Given the description of an element on the screen output the (x, y) to click on. 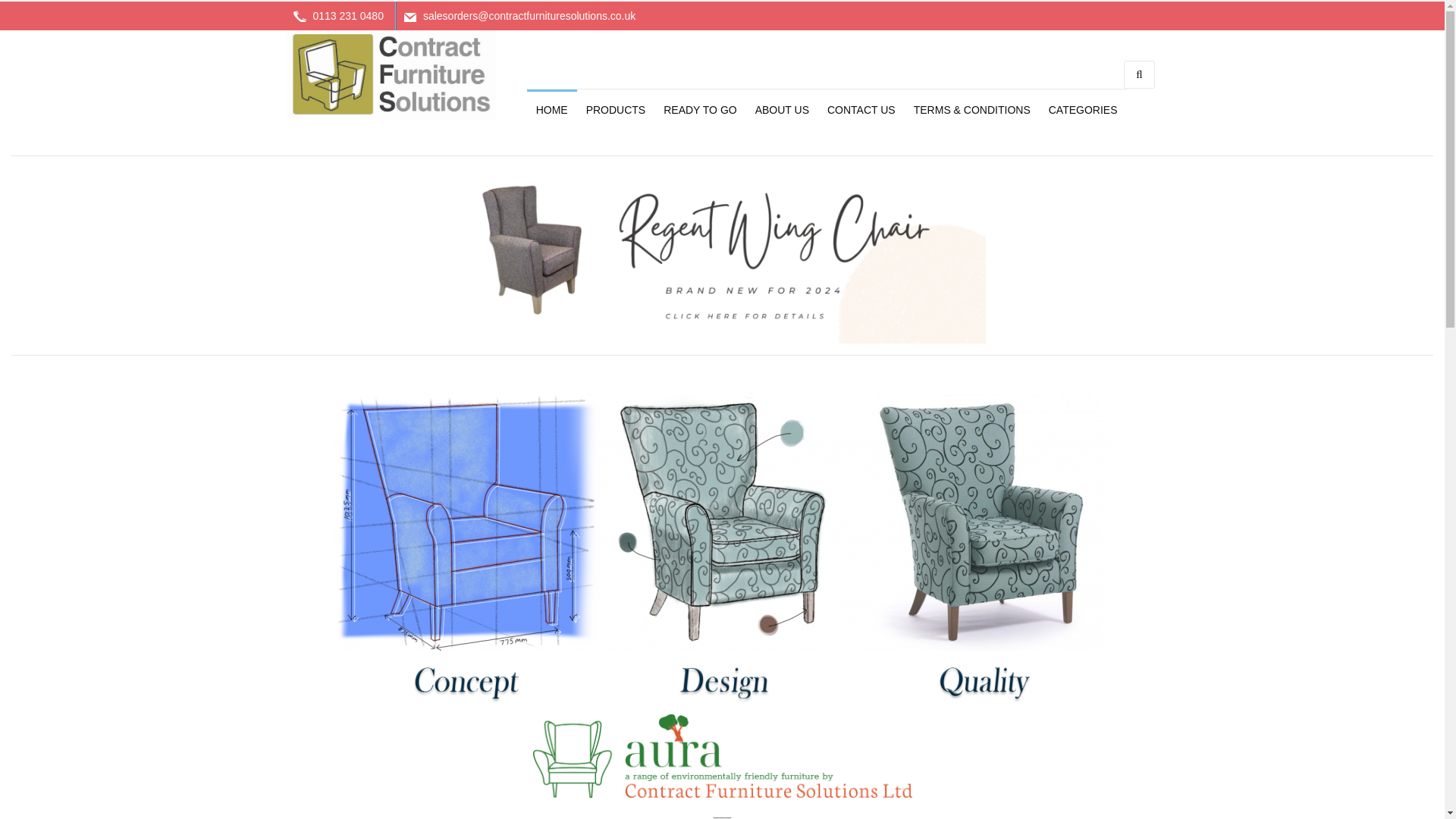
HOME (551, 116)
CONTACT US (861, 116)
Contract Furniture Solutions (391, 73)
READY TO GO (699, 116)
PRODUCTS (615, 116)
ABOUT US (781, 116)
CATEGORIES (1082, 116)
